Given the description of an element on the screen output the (x, y) to click on. 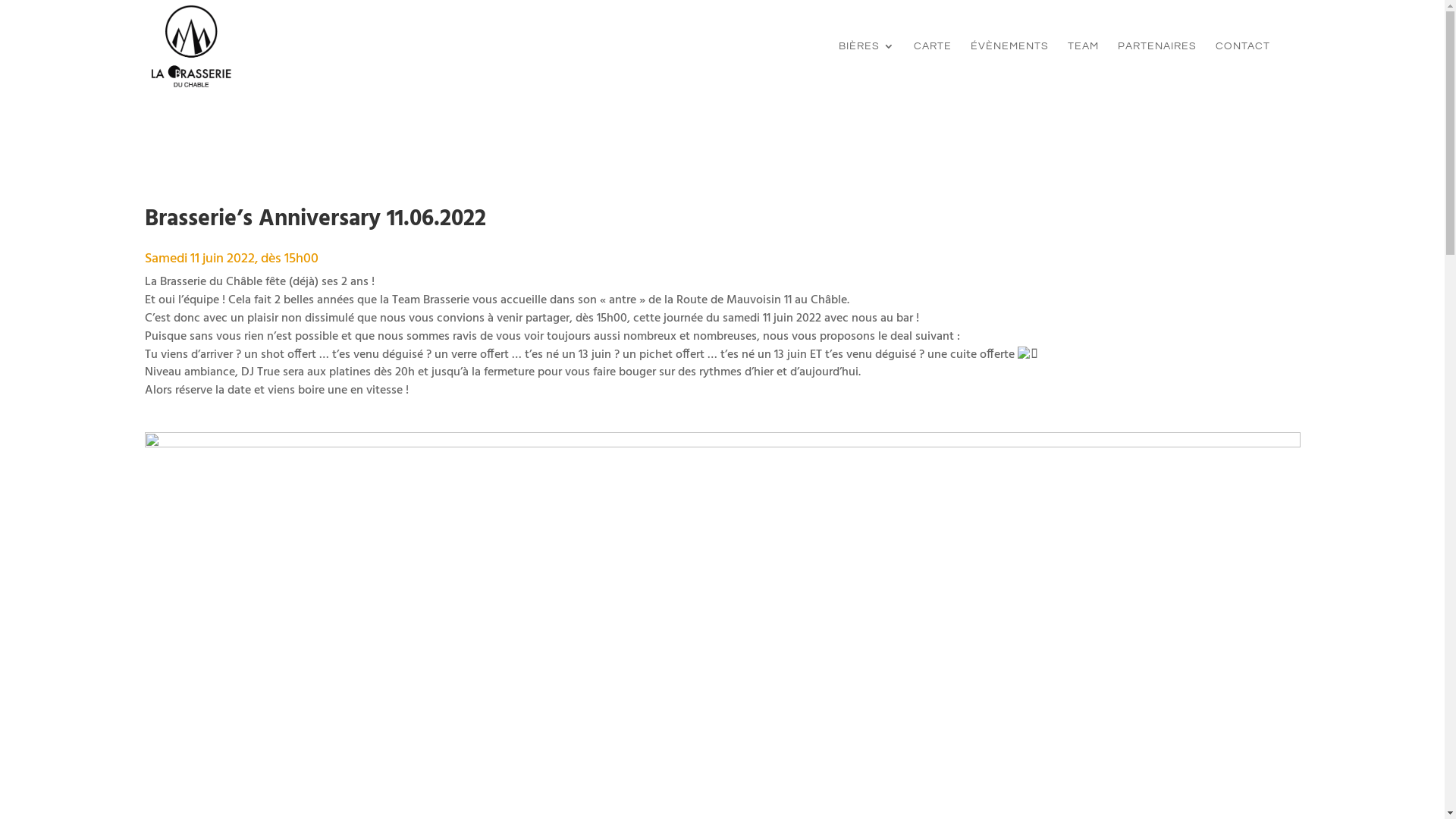
CONTACT Element type: text (1241, 66)
TEAM Element type: text (1082, 66)
PARTENAIRES Element type: text (1156, 66)
CARTE Element type: text (931, 66)
